Given the description of an element on the screen output the (x, y) to click on. 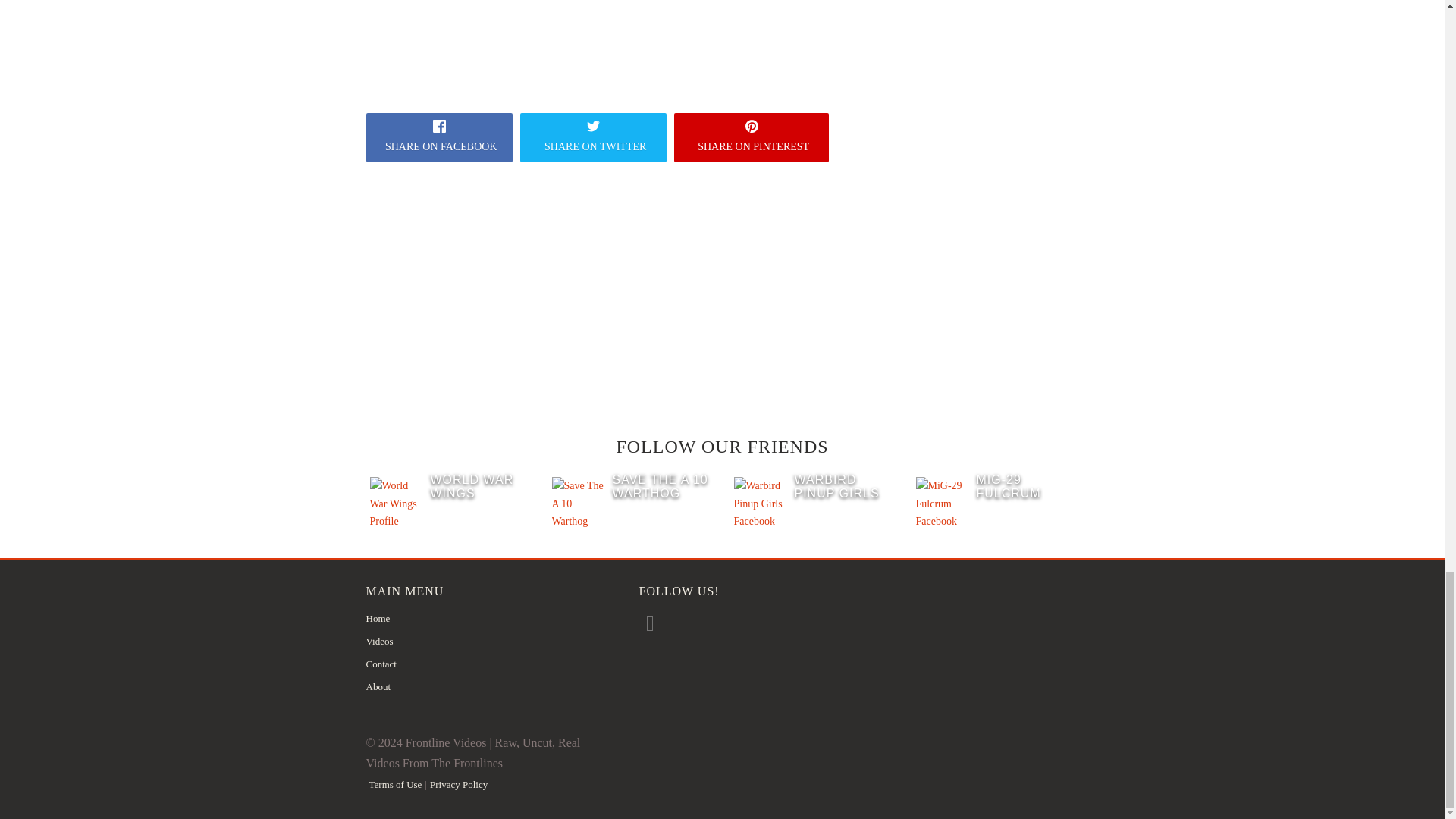
Frontline Videos on Facebook (652, 622)
SHARE ON FACEBOOK (438, 137)
SHARE ON TWITTER (592, 137)
SHARE ON PINTEREST (751, 137)
